Given the description of an element on the screen output the (x, y) to click on. 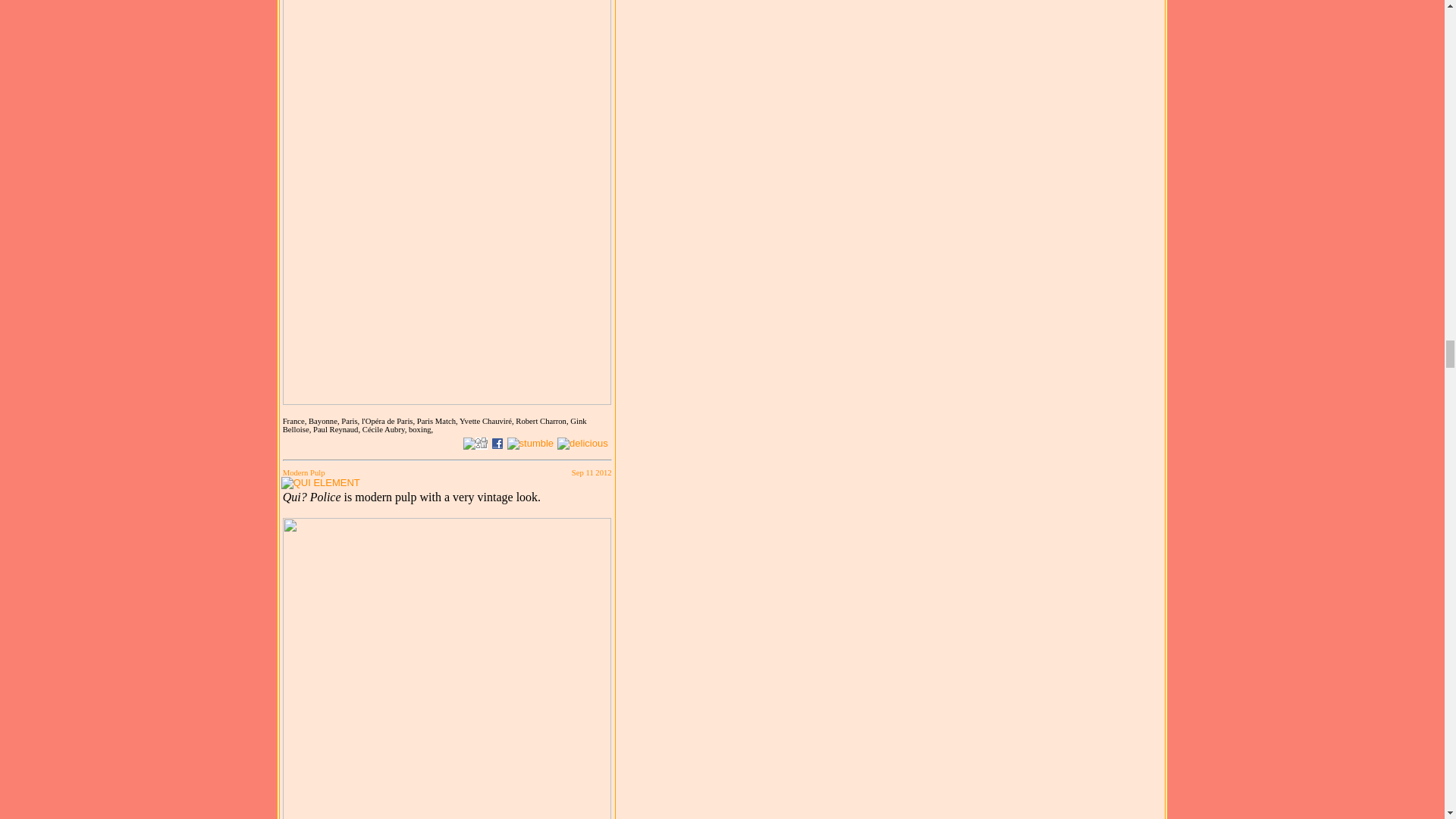
Paris (350, 420)
Paris Match (438, 420)
France (295, 420)
Modern Pulp (303, 472)
digg:Cover and scans from Paris Match of April 1949 (481, 443)
StumbleUpon:Cover and scans from Paris Match of April 1949 (530, 443)
Robert Charron (542, 420)
Bookmark this on Delicious (582, 443)
Share this on Facebook (497, 443)
Bayonne (324, 420)
